Given the description of an element on the screen output the (x, y) to click on. 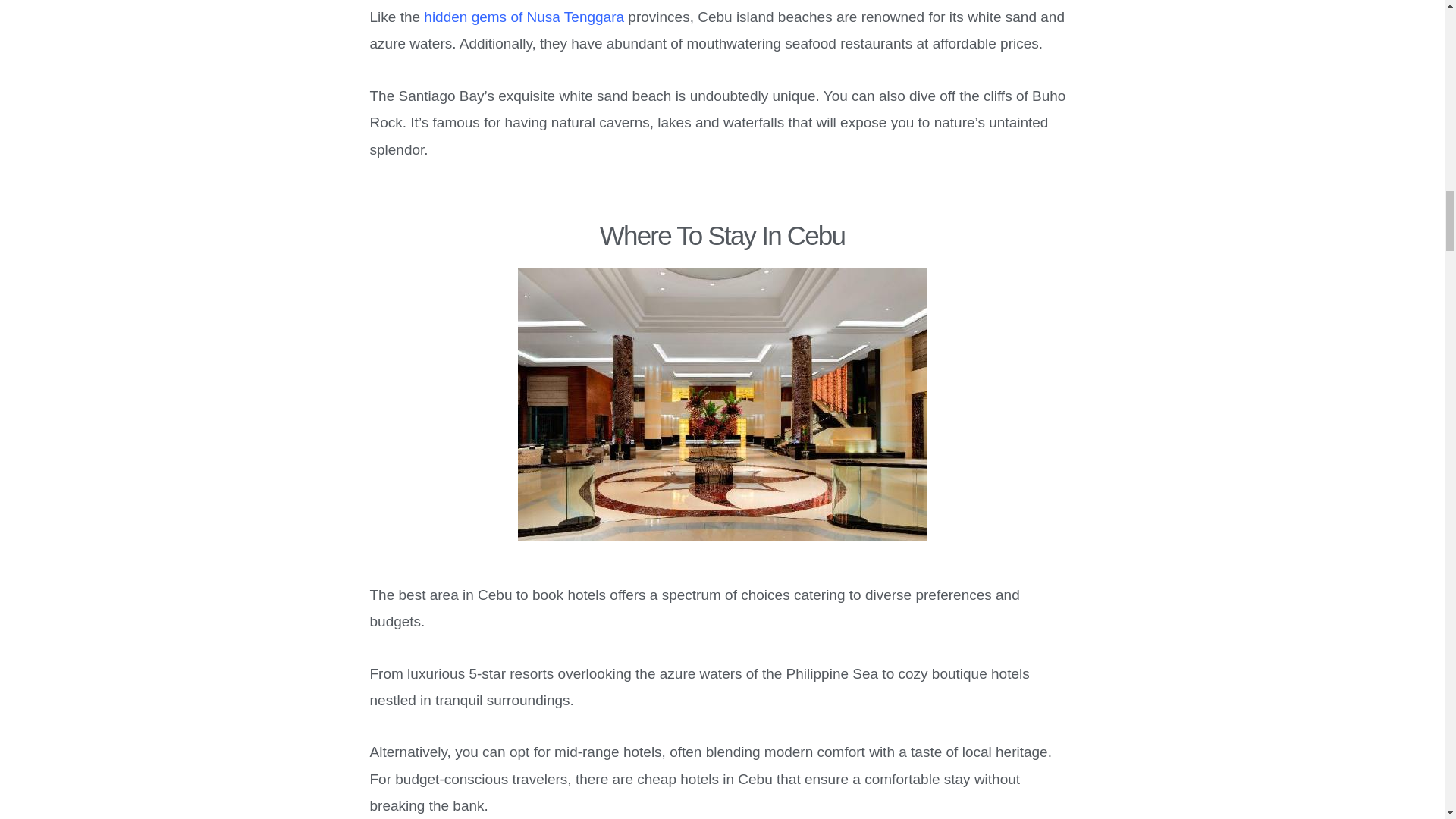
hidden gems of Nusa Tenggara (523, 17)
